Given the description of an element on the screen output the (x, y) to click on. 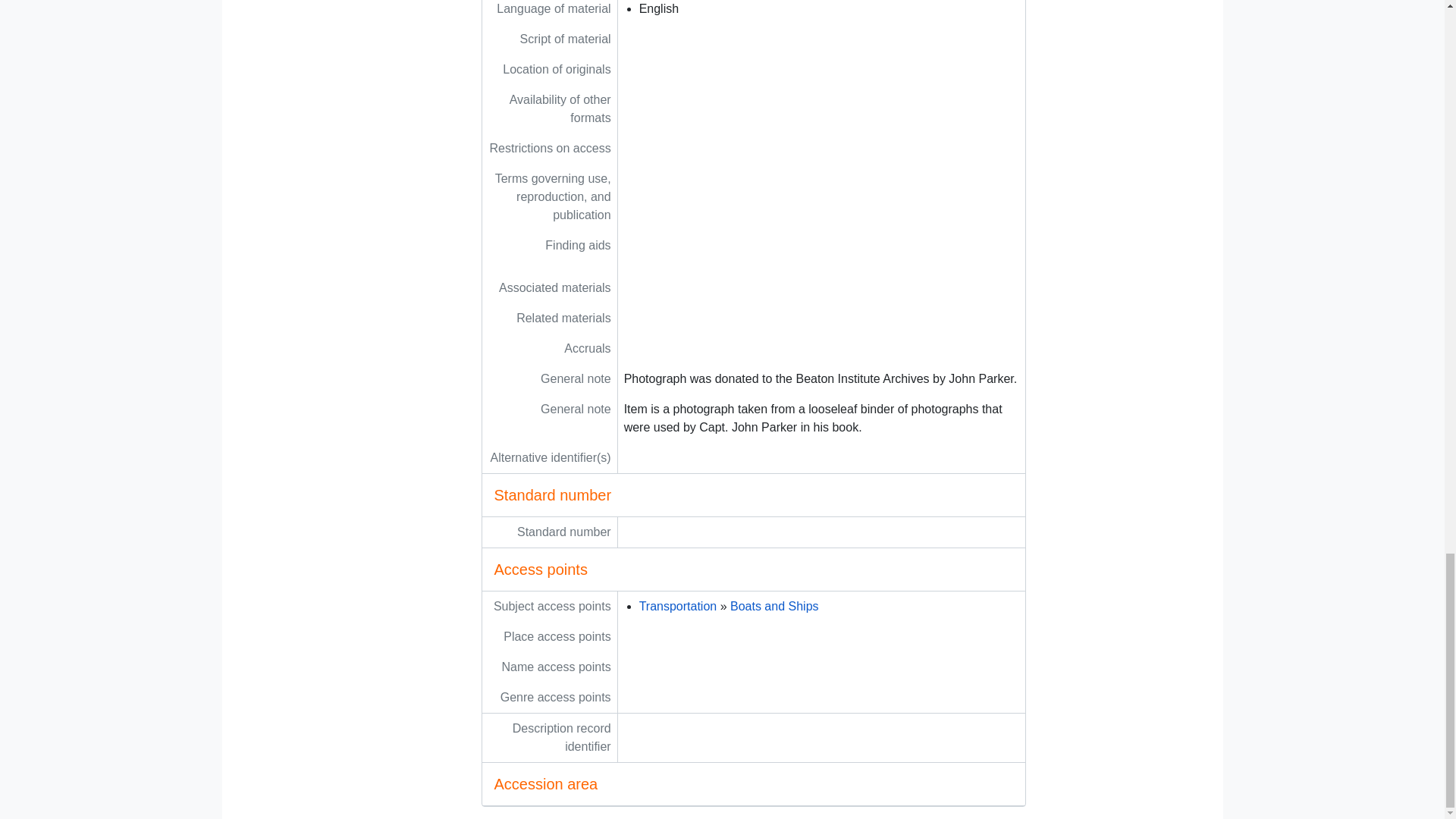
Transportation (678, 605)
Transportation (678, 605)
Boats and Ships (774, 605)
Boats and Ships (774, 605)
